Given the description of an element on the screen output the (x, y) to click on. 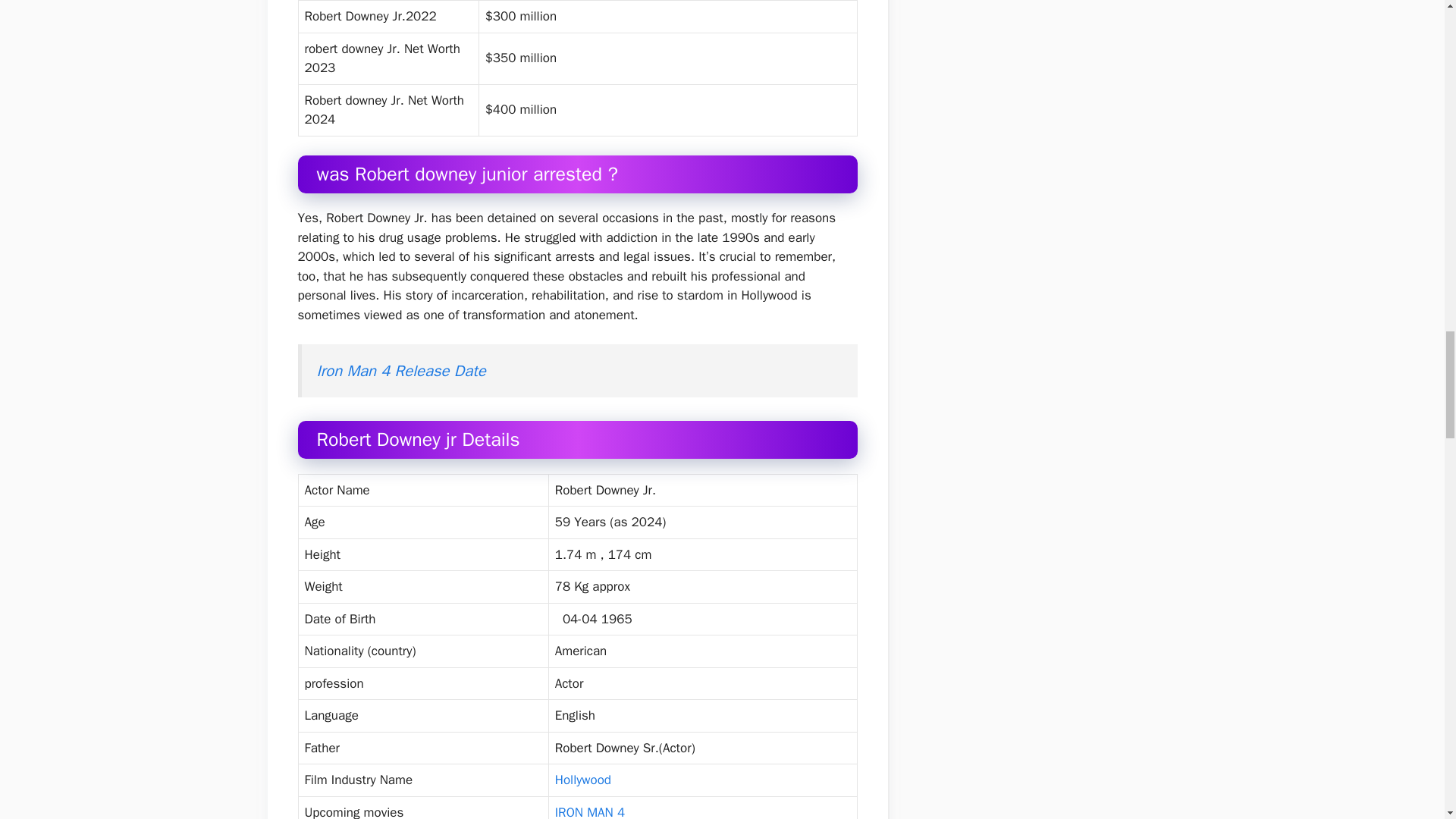
Hollywood (582, 779)
Iron Man 4 Release Date (401, 370)
IRON MAN 4 (589, 811)
